Given the description of an element on the screen output the (x, y) to click on. 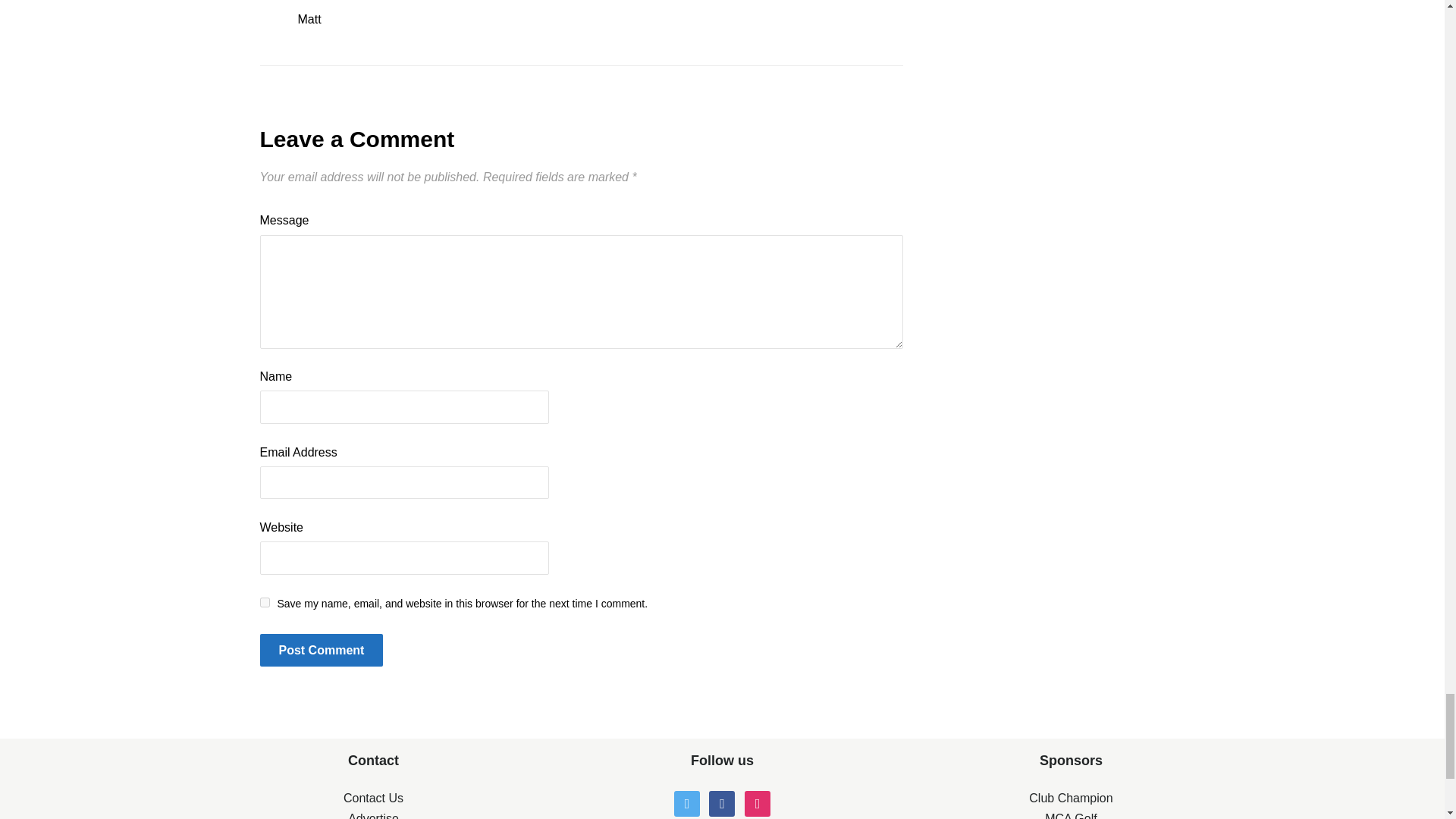
Friend me on Facebook (722, 802)
Follow Me (687, 802)
yes (264, 602)
Instagram (757, 802)
Post Comment (320, 649)
